Given the description of an element on the screen output the (x, y) to click on. 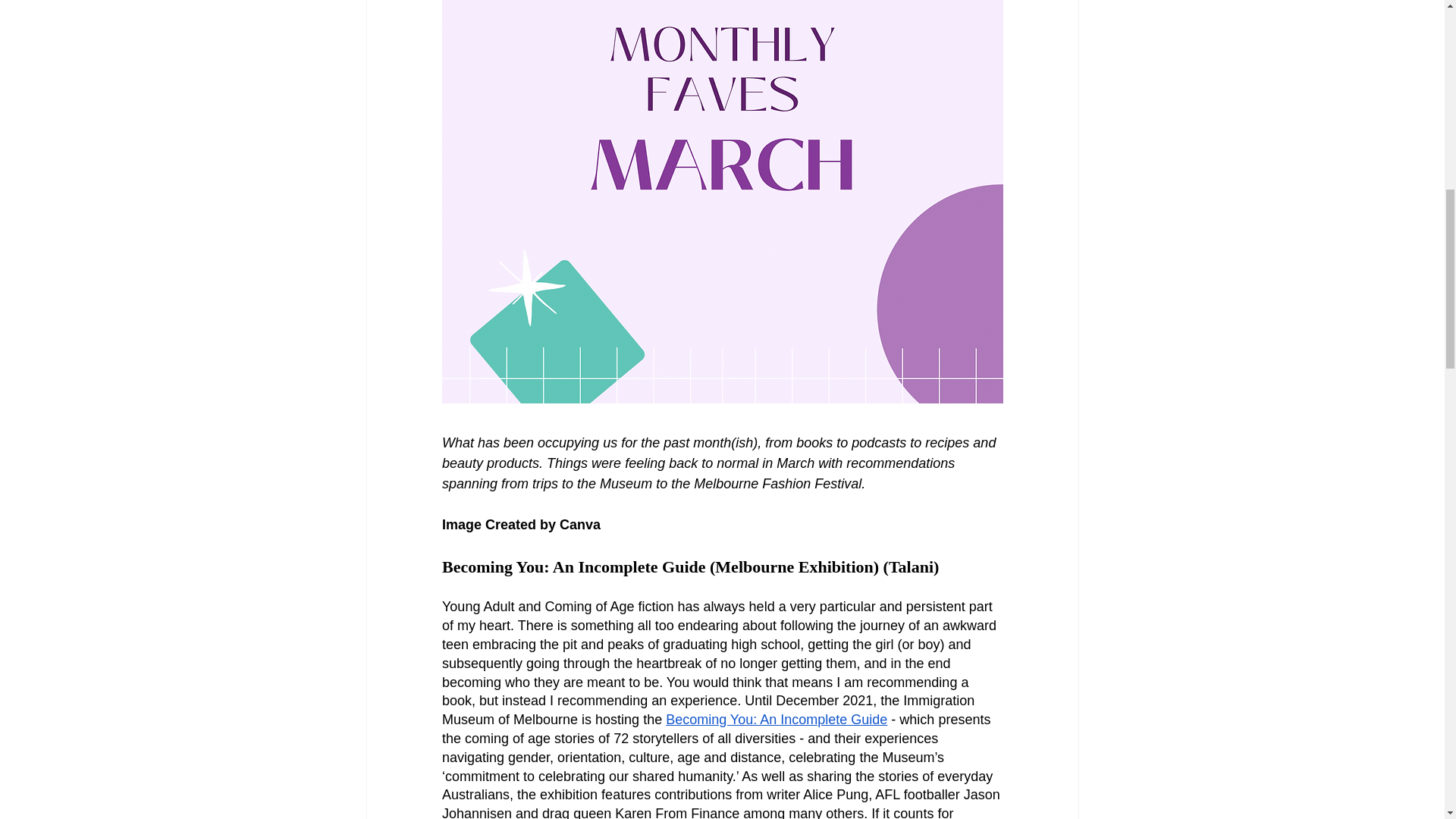
Becoming You: An Incomplete Guide (775, 719)
